Given the description of an element on the screen output the (x, y) to click on. 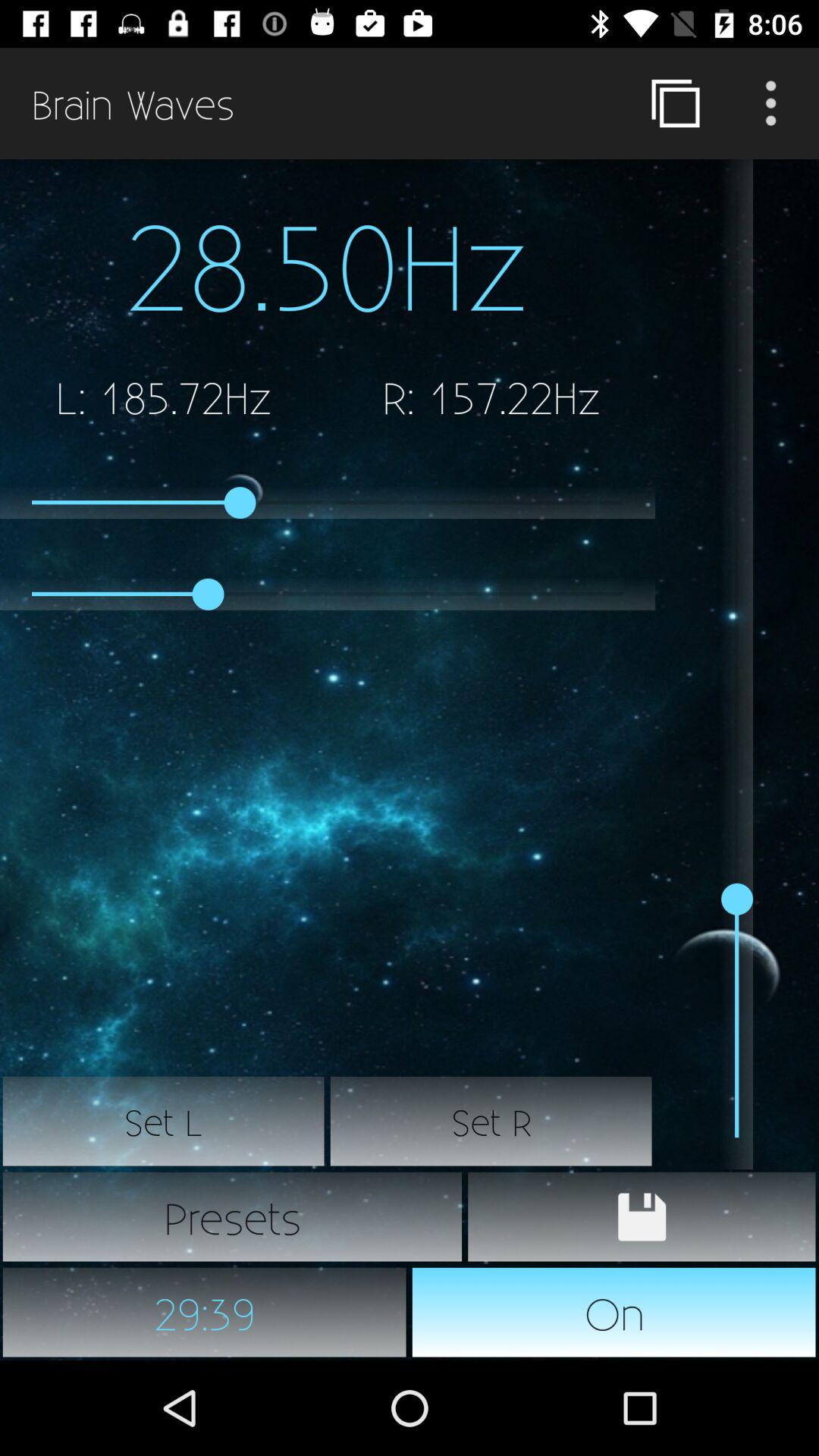
launch the icon next to 29:39 (614, 1312)
